Given the description of an element on the screen output the (x, y) to click on. 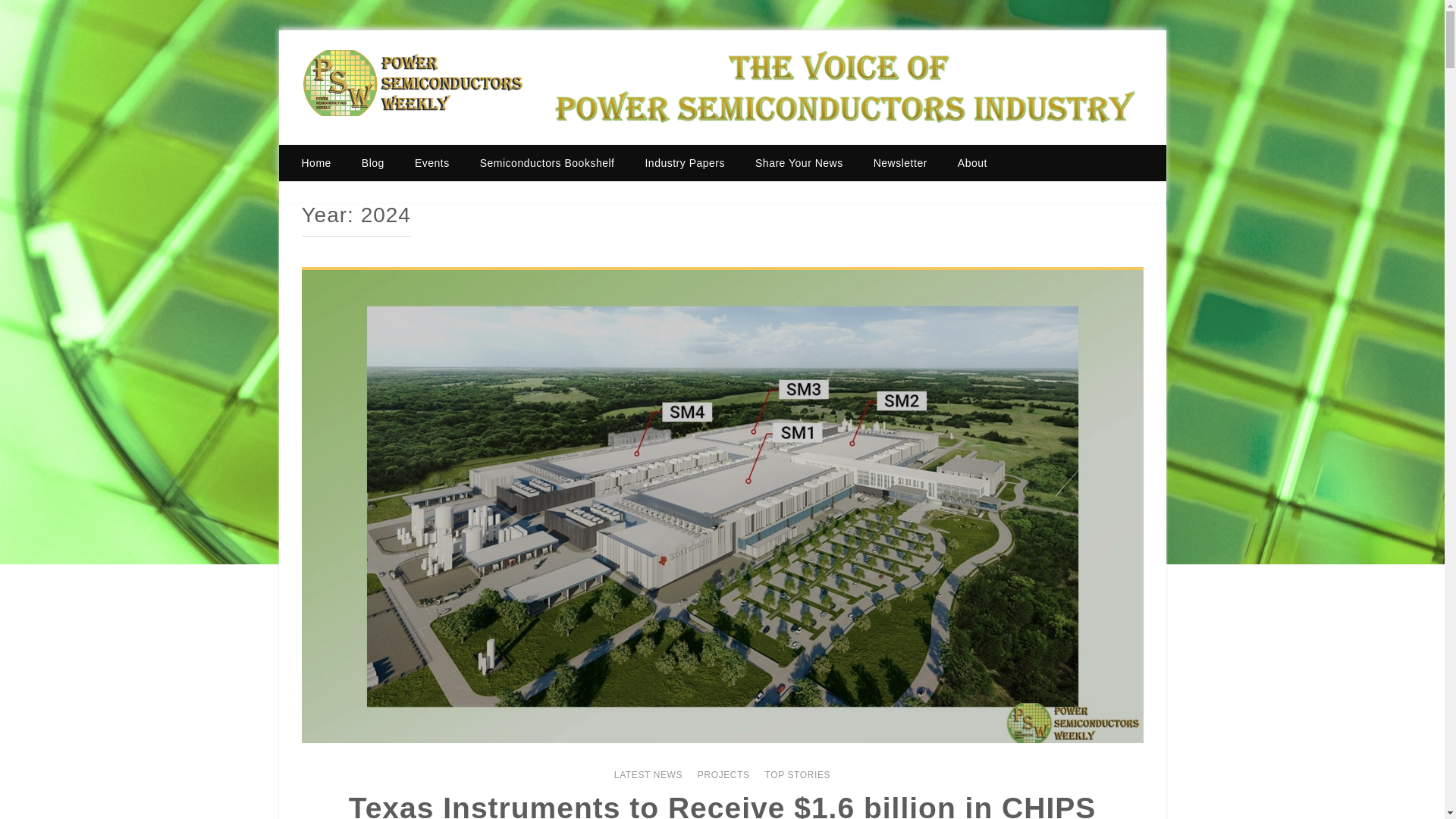
PROJECTS (723, 774)
Semiconductors Bookshelf (547, 162)
LATEST NEWS (648, 774)
Share Your News (799, 162)
Events (431, 162)
About (972, 162)
Home (323, 162)
Newsletter (900, 162)
TOP STORIES (796, 774)
Industry Papers (683, 162)
